Given the description of an element on the screen output the (x, y) to click on. 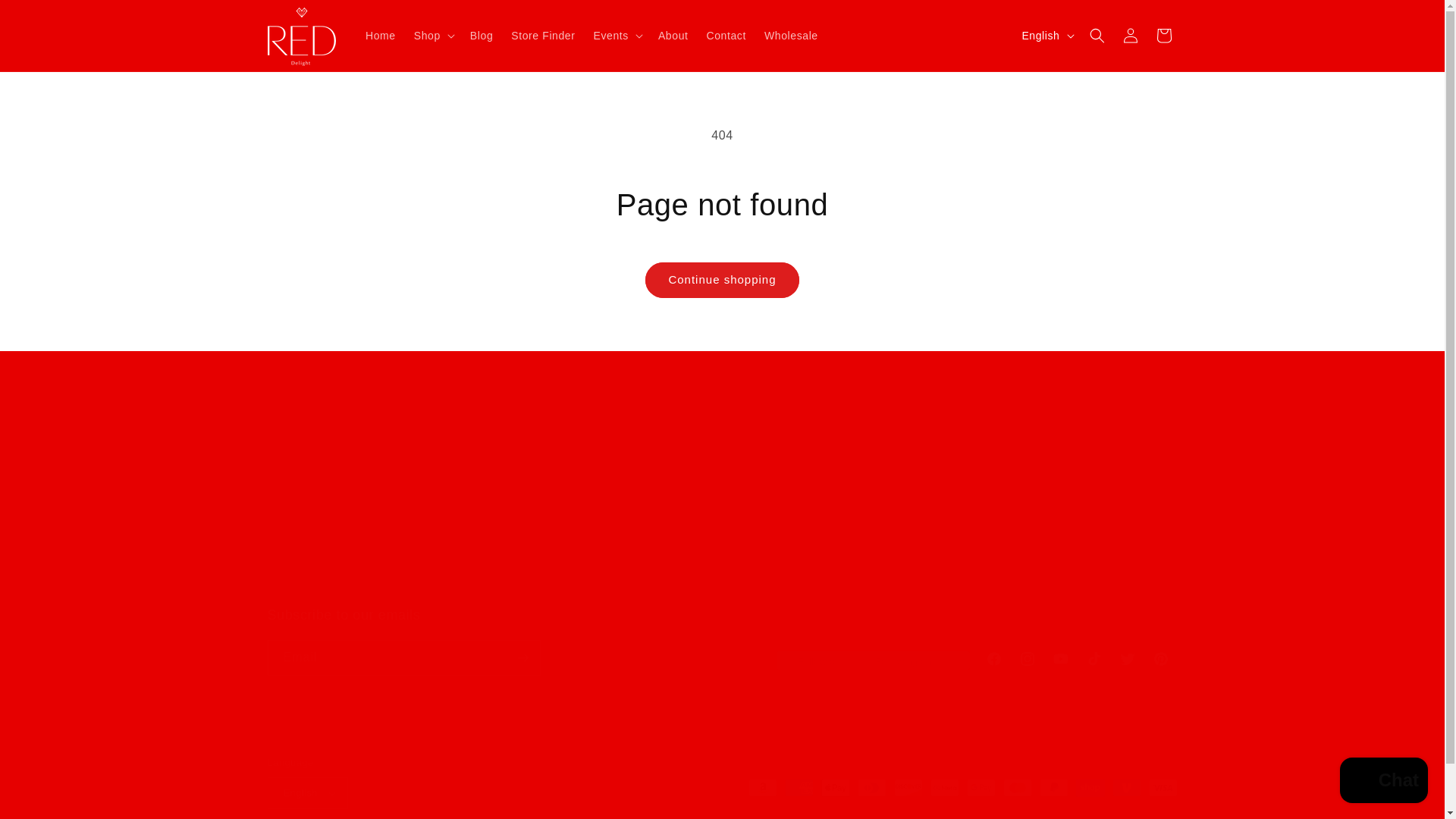
Wholesale (791, 35)
Skip to content (45, 17)
RED Delight Chocolate - All Pleasure, No Guilt! (1072, 503)
Home (380, 35)
About (673, 35)
Blog (481, 35)
Contact (726, 35)
English (1045, 35)
Store Finder (542, 35)
Shopify online store chat (1383, 781)
